Given the description of an element on the screen output the (x, y) to click on. 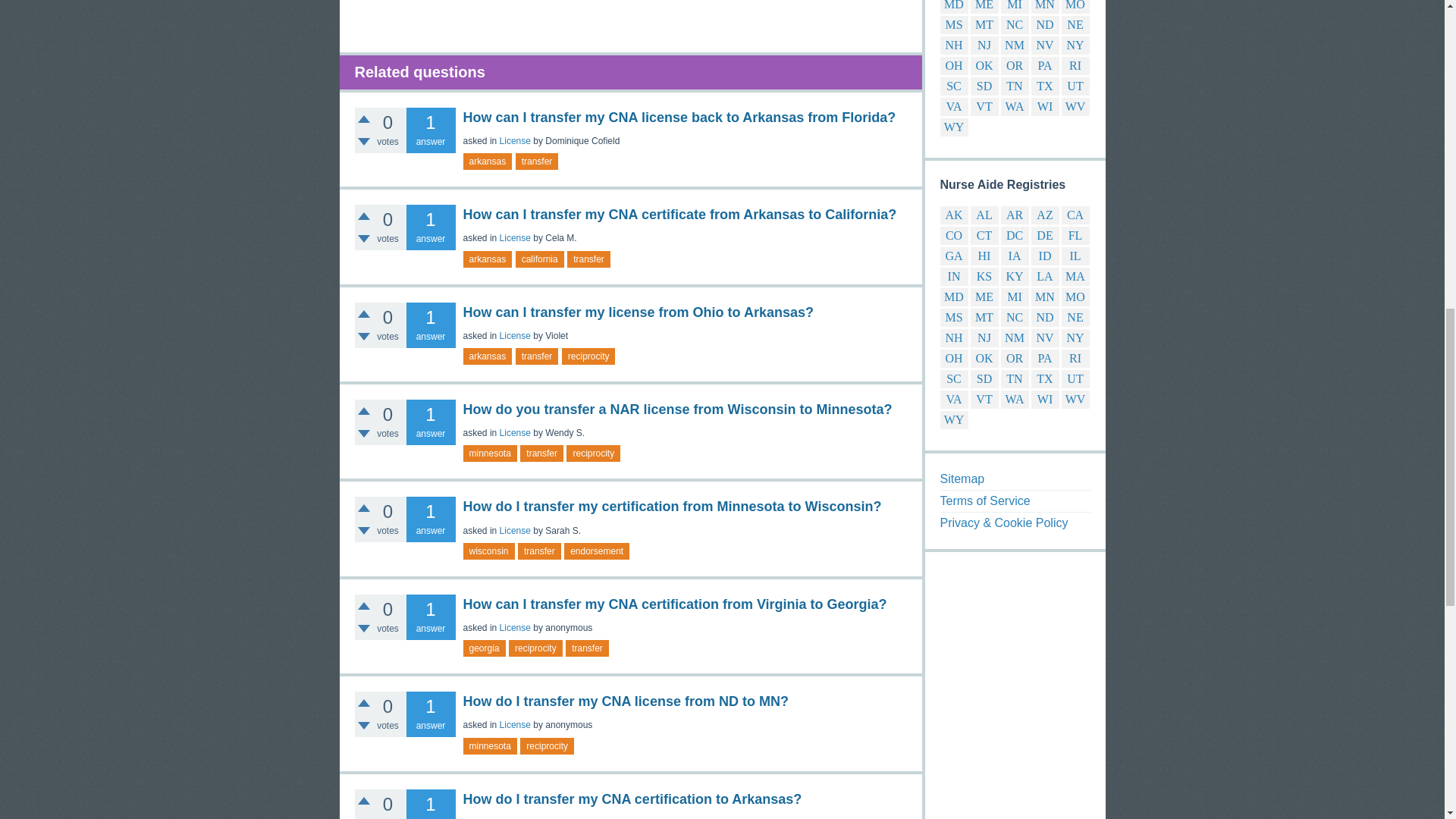
Click to vote down (363, 141)
License (515, 140)
Click to vote down (363, 336)
Click to vote down (363, 238)
arkansas (487, 161)
Click to vote up (363, 118)
Click to vote up (363, 313)
transfer (537, 161)
Click to vote up (363, 216)
